Given the description of an element on the screen output the (x, y) to click on. 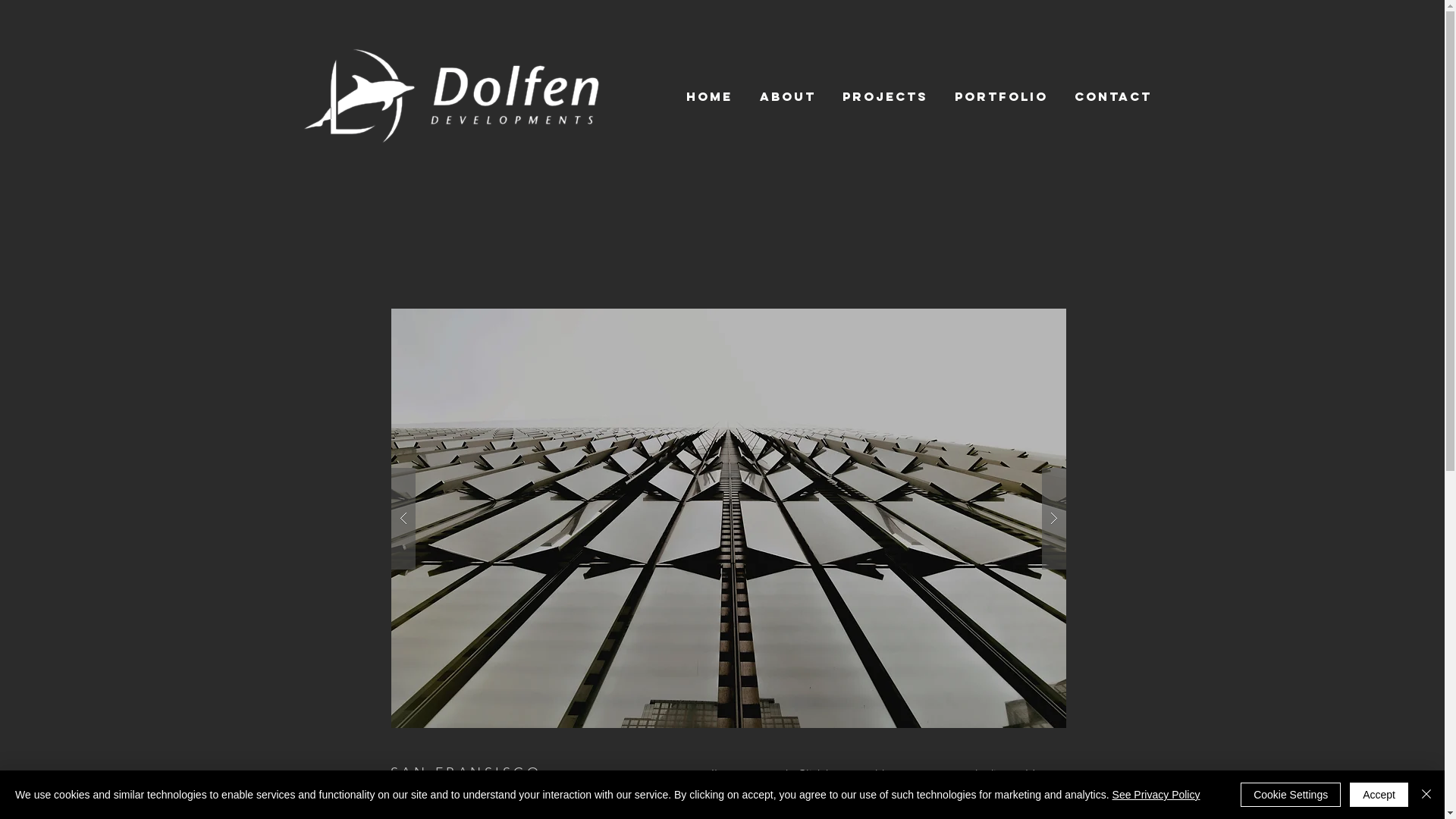
PORTFOLIO Element type: text (1001, 95)
ABOUT Element type: text (787, 95)
Cookie Settings Element type: text (1290, 794)
See Privacy Policy Element type: text (1156, 794)
CONTACT Element type: text (1113, 95)
Accept Element type: text (1378, 794)
HOME Element type: text (708, 95)
